Given the description of an element on the screen output the (x, y) to click on. 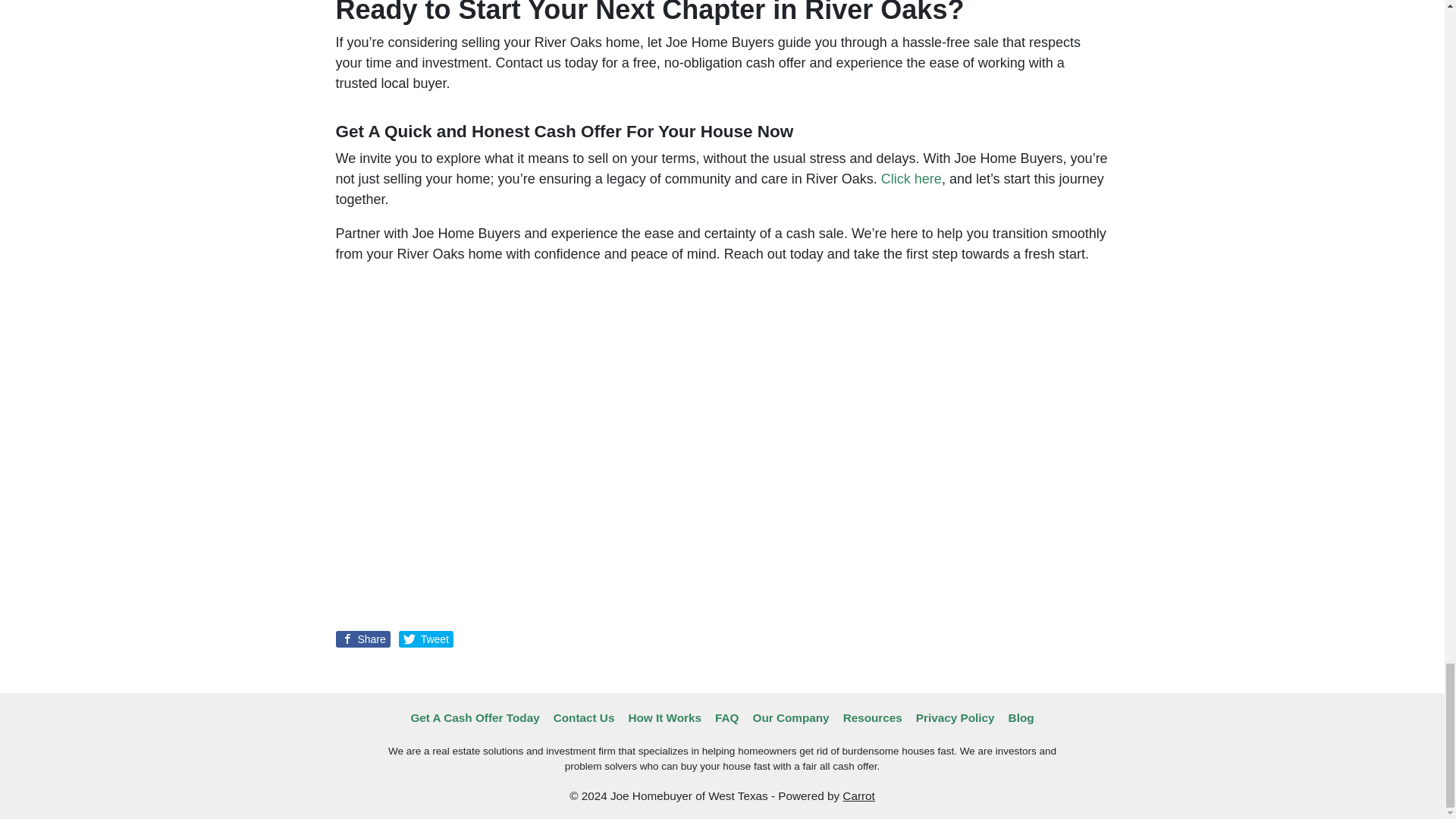
Our Company (790, 717)
Privacy Policy (954, 717)
How It Works (664, 717)
Share (362, 638)
Contact Us (584, 717)
Carrot (859, 795)
Click here (911, 178)
Tweet (425, 638)
Share on Facebook (362, 638)
Resources (871, 717)
